Given the description of an element on the screen output the (x, y) to click on. 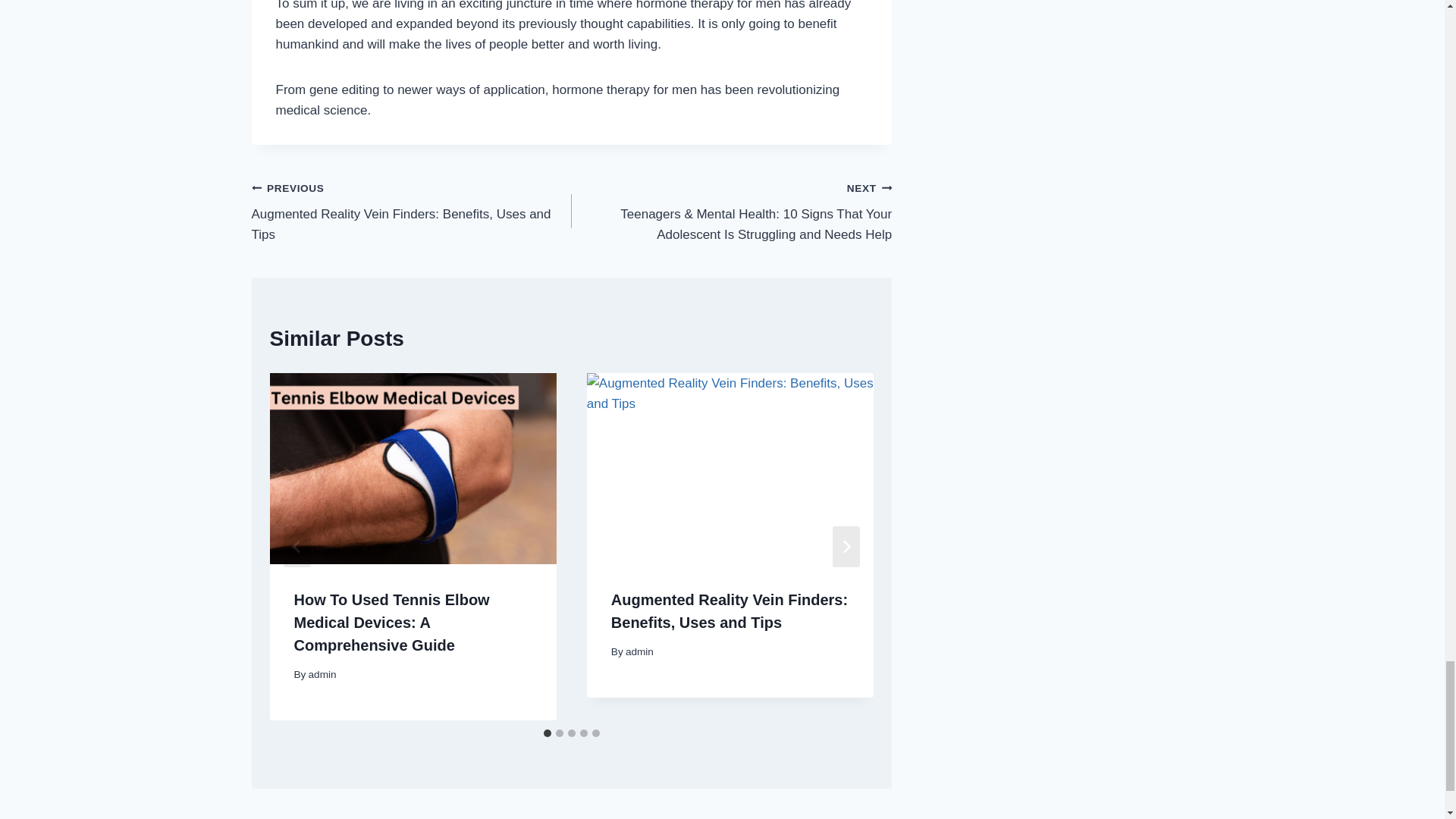
admin (639, 651)
admin (322, 674)
Augmented Reality Vein Finders: Benefits, Uses and Tips (729, 610)
